Given the description of an element on the screen output the (x, y) to click on. 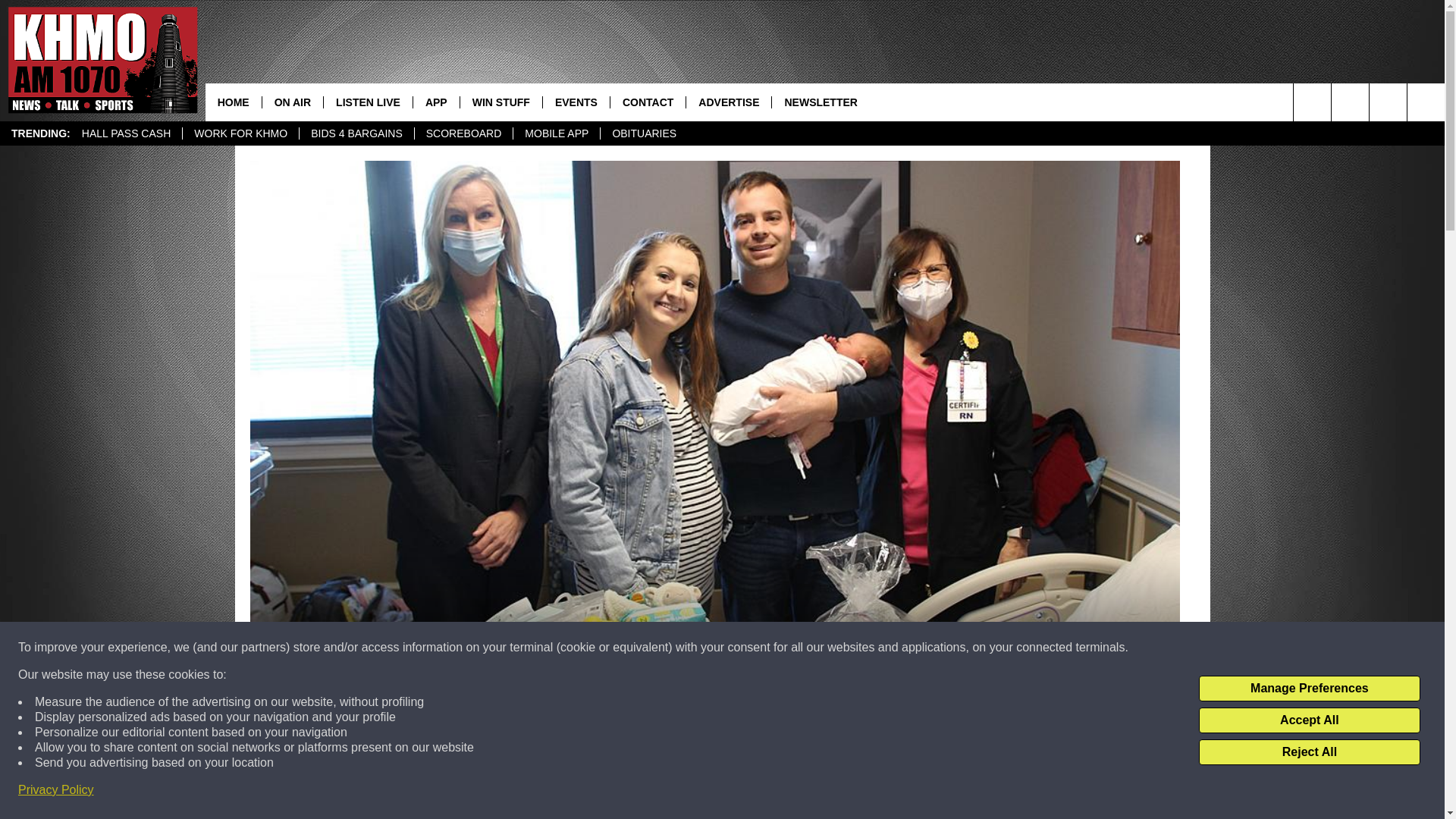
Reject All (1309, 751)
ADVERTISE (728, 102)
Share on Twitter (912, 791)
EVENTS (575, 102)
BIDS 4 BARGAINS (355, 133)
CONTACT (647, 102)
SCOREBOARD (463, 133)
WORK FOR KHMO (240, 133)
LISTEN LIVE (367, 102)
APP (436, 102)
ON AIR (292, 102)
Privacy Policy (55, 789)
Manage Preferences (1309, 688)
OBITUARIES (643, 133)
WIN STUFF (500, 102)
